Given the description of an element on the screen output the (x, y) to click on. 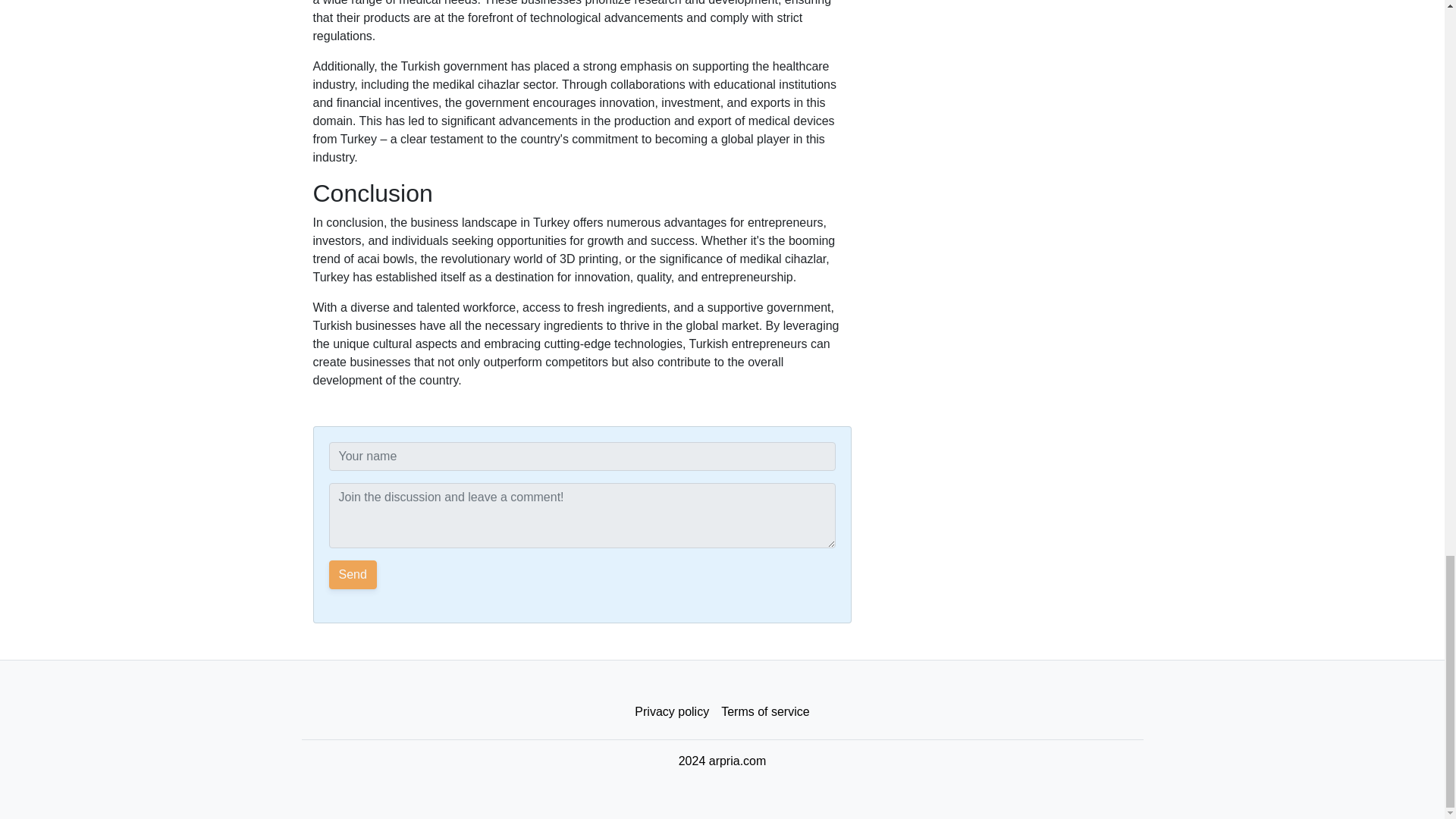
Privacy policy (671, 711)
Send (353, 574)
Terms of service (764, 711)
Send (353, 574)
